Given the description of an element on the screen output the (x, y) to click on. 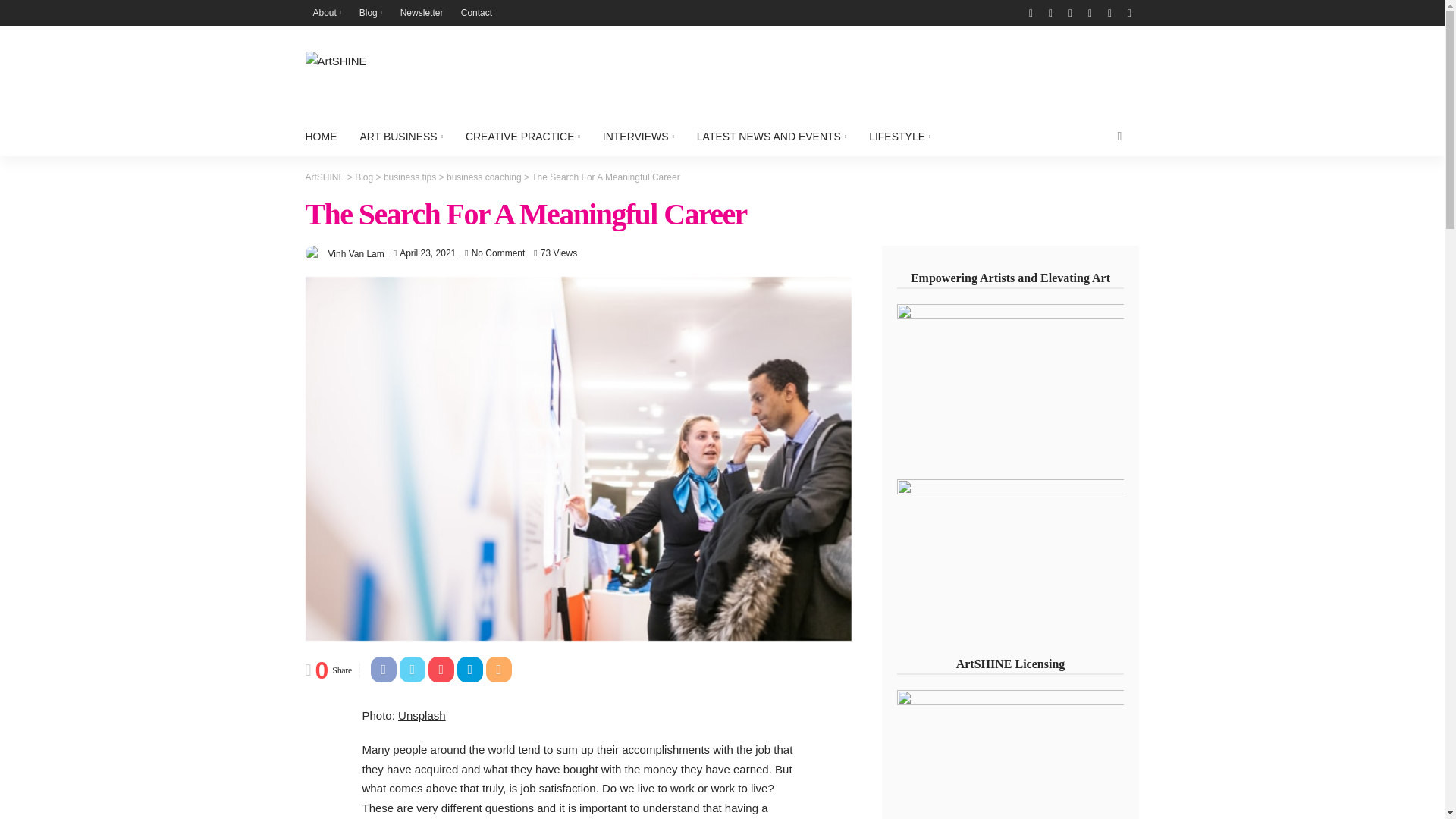
Blog (371, 12)
About (326, 12)
Newsletter (422, 12)
Contact (475, 12)
